Given the description of an element on the screen output the (x, y) to click on. 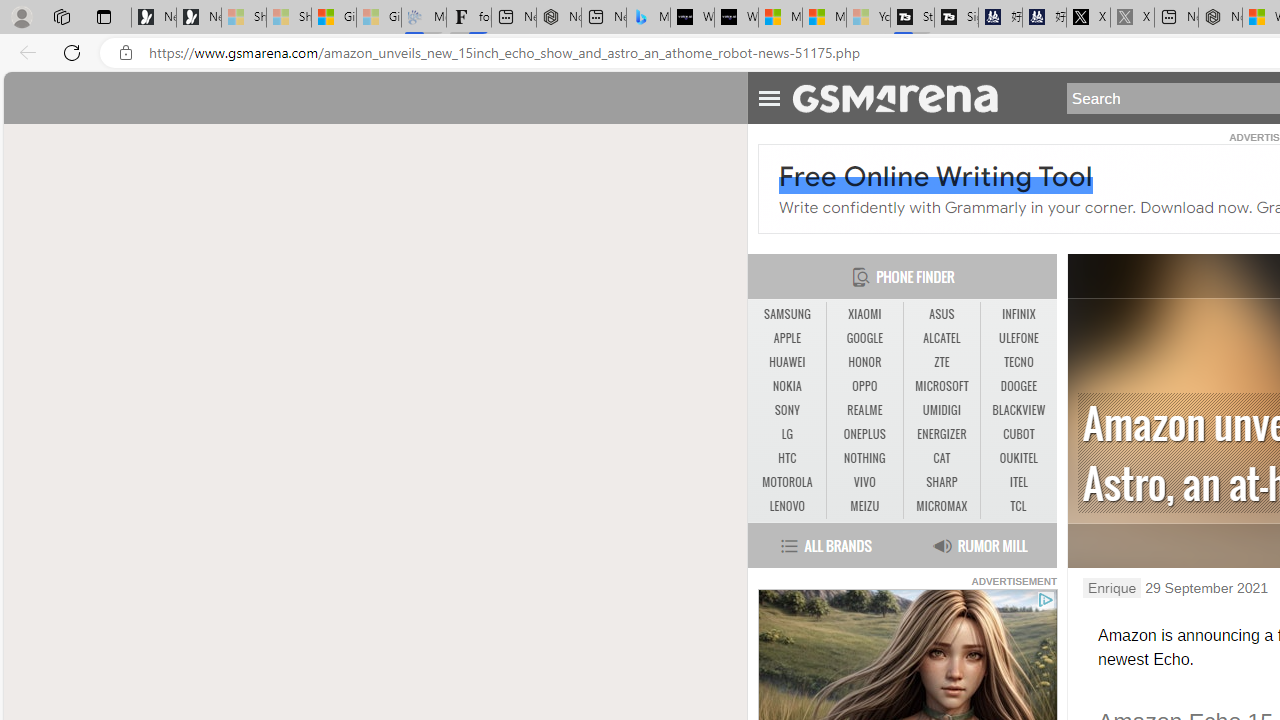
ITEL (1018, 482)
UMIDIGI (941, 410)
LENOVO (786, 506)
HUAWEI (786, 362)
GOOGLE (864, 339)
ONEPLUS (863, 434)
Nordace - My Account (1220, 17)
OPPO (864, 386)
SHARP (941, 482)
XIAOMI (864, 314)
OUKITEL (1018, 457)
Class: creative__ad-choice_image (1045, 599)
